Given the description of an element on the screen output the (x, y) to click on. 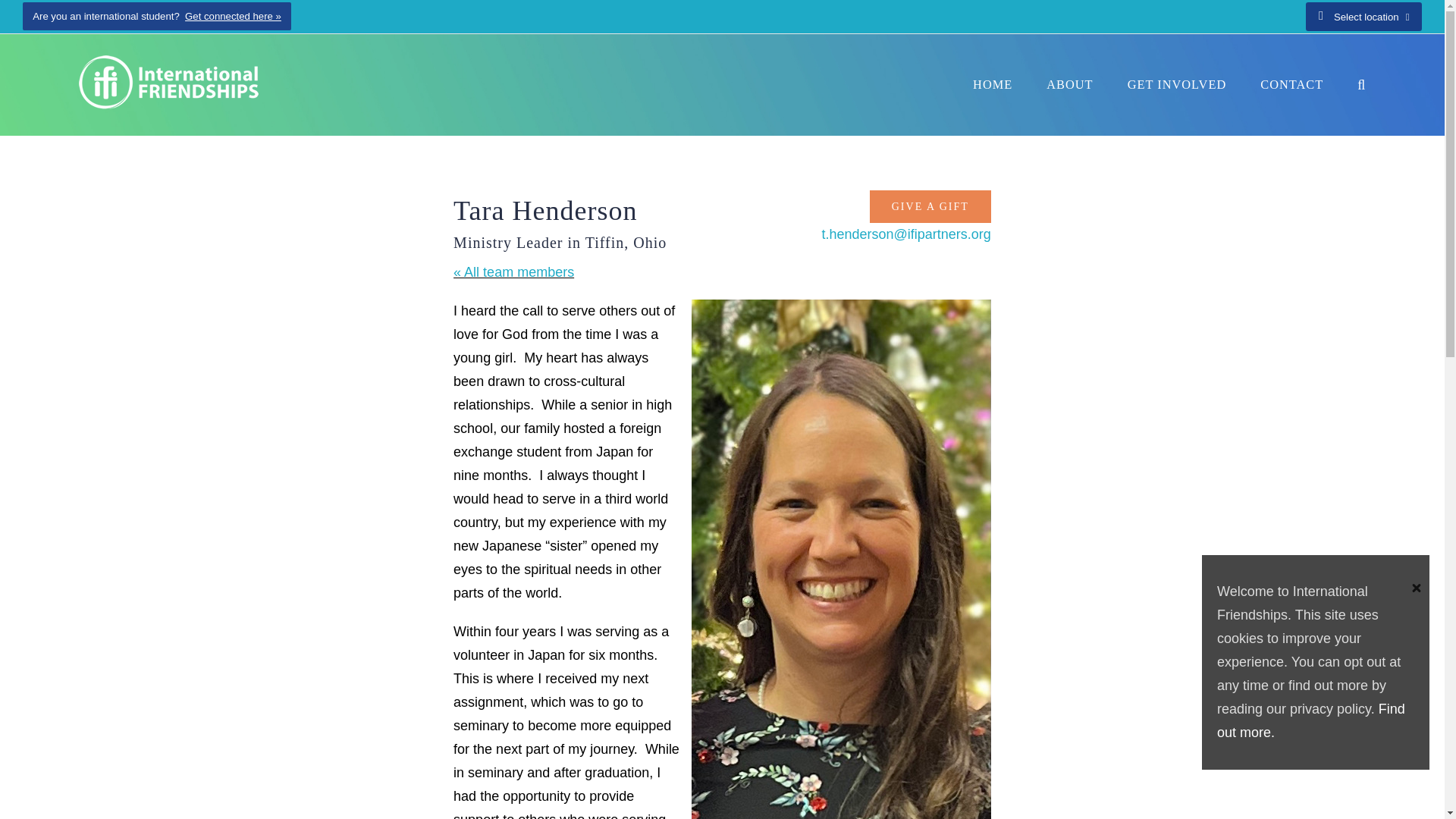
Select location (1364, 16)
